Given the description of an element on the screen output the (x, y) to click on. 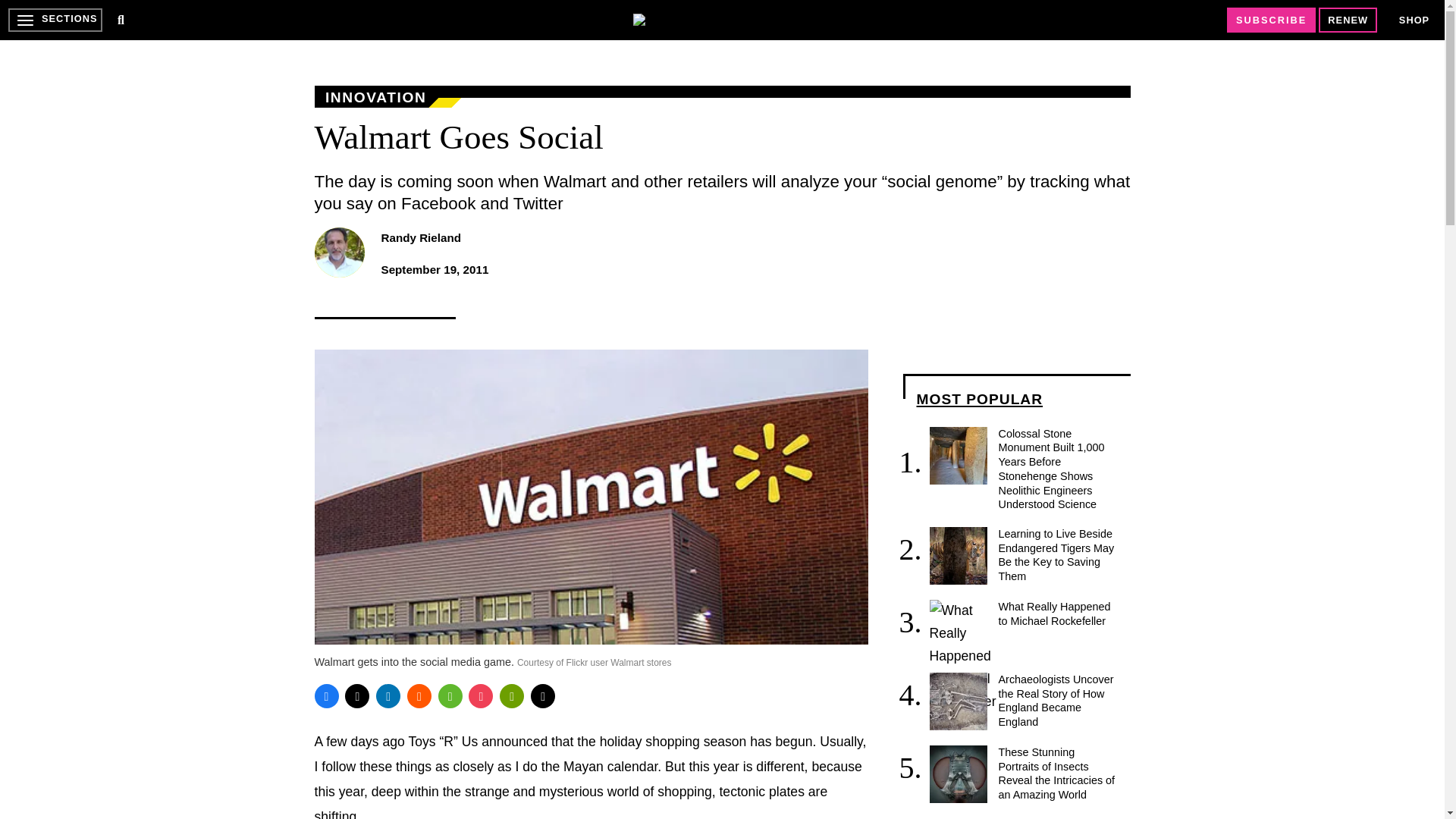
SUBSCRIBE (1271, 19)
WhatsApp (450, 695)
SECTIONS (55, 19)
Reddit (418, 695)
SUBSCRIBE (1271, 19)
Pocket (480, 695)
RENEW (1347, 19)
Facebook (325, 695)
LinkedIn (387, 695)
Print (511, 695)
